Given the description of an element on the screen output the (x, y) to click on. 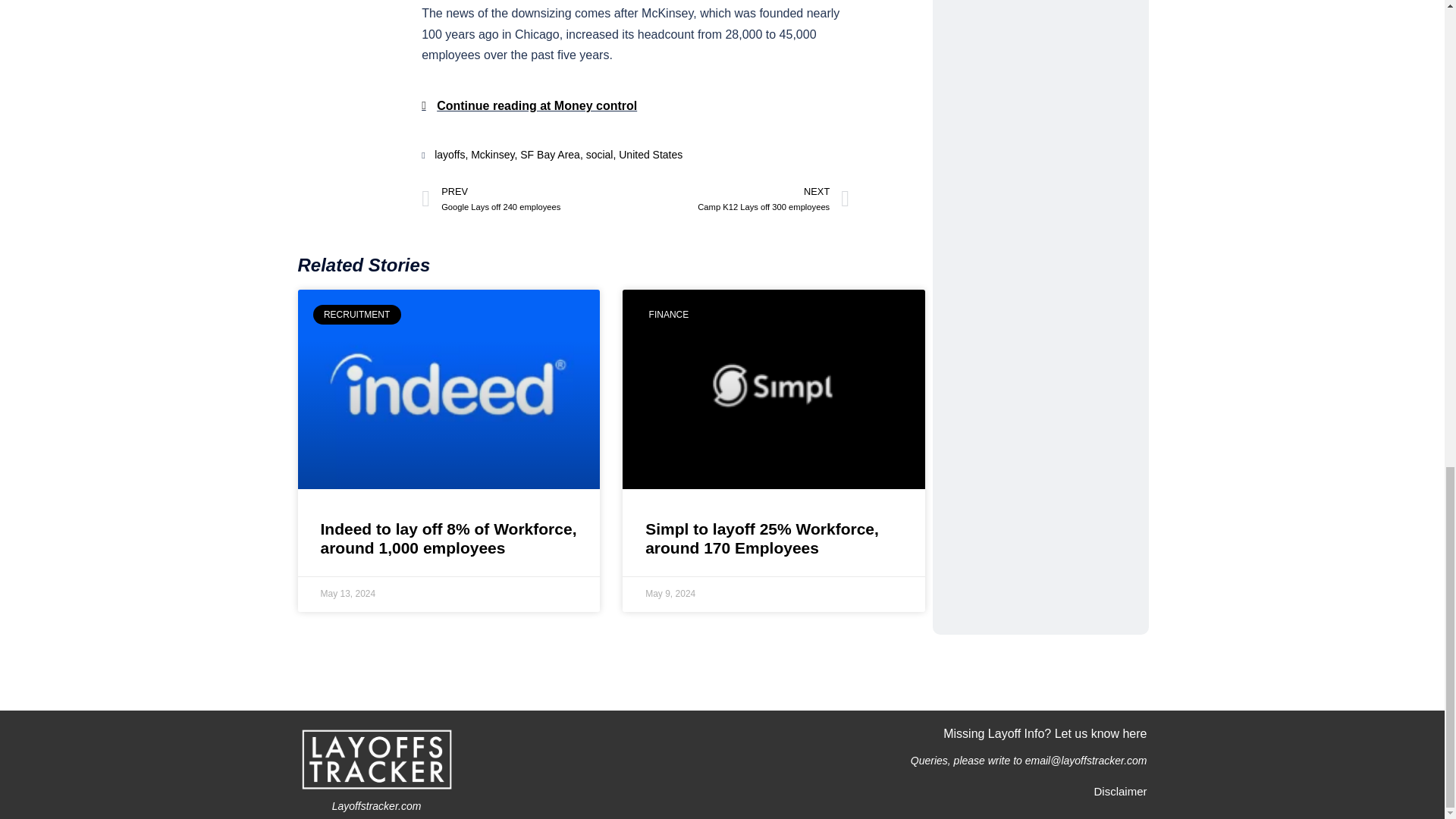
Mckinsey (491, 154)
SF Bay Area (549, 154)
Continue reading at Money control (529, 105)
layoffs (448, 154)
Disclaimer (1120, 790)
social (599, 154)
Missing Layoff Info? Let us know here (741, 198)
United States (528, 198)
